Given the description of an element on the screen output the (x, y) to click on. 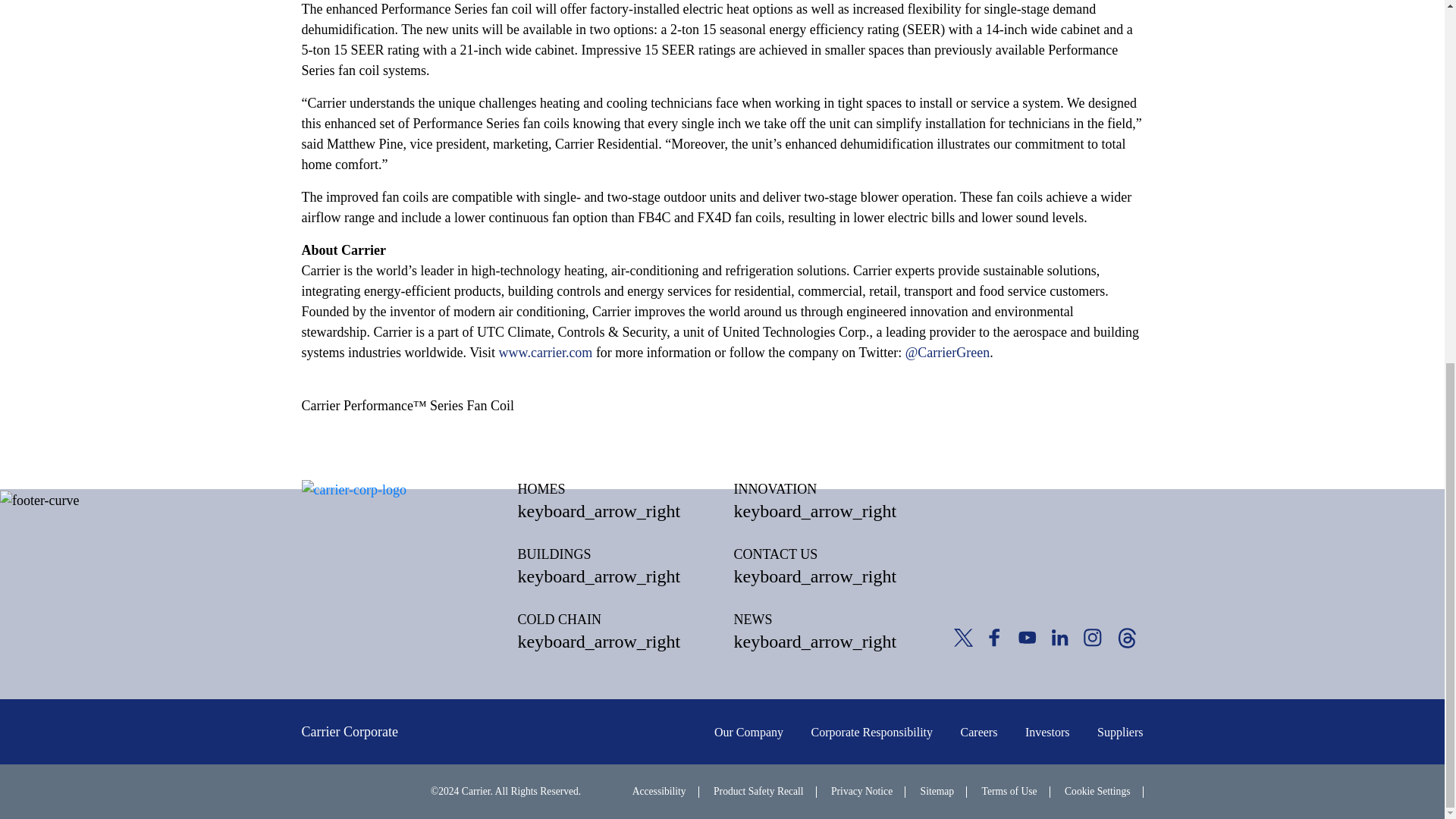
www.carrier.com (545, 352)
